Given the description of an element on the screen output the (x, y) to click on. 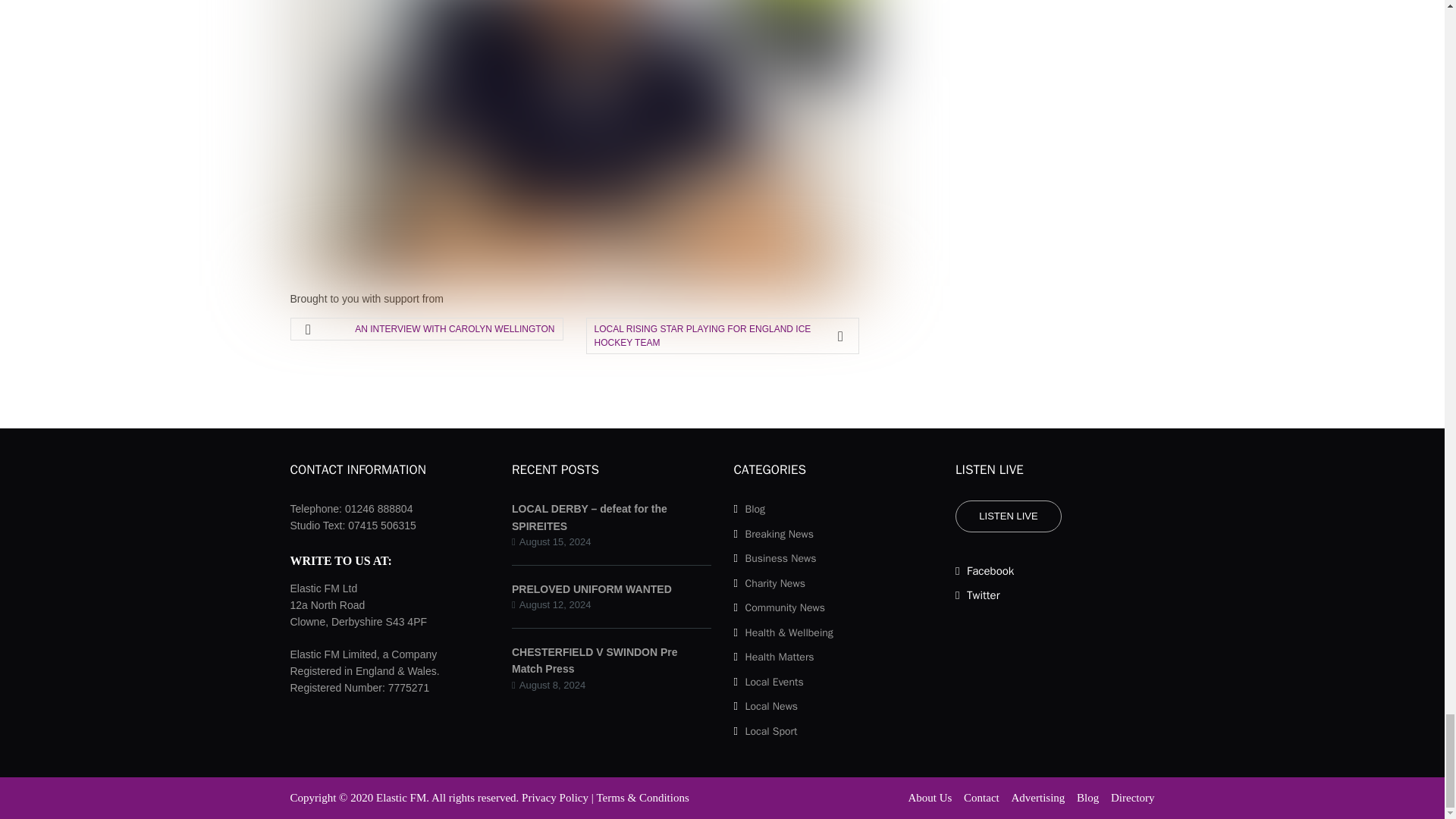
Twitter (982, 594)
Facebook (989, 571)
AN INTERVIEW WITH CAROLYN WELLINGTON (432, 328)
LOCAL RISING STAR PLAYING FOR ENGLAND ICE HOCKEY TEAM (714, 335)
